Given the description of an element on the screen output the (x, y) to click on. 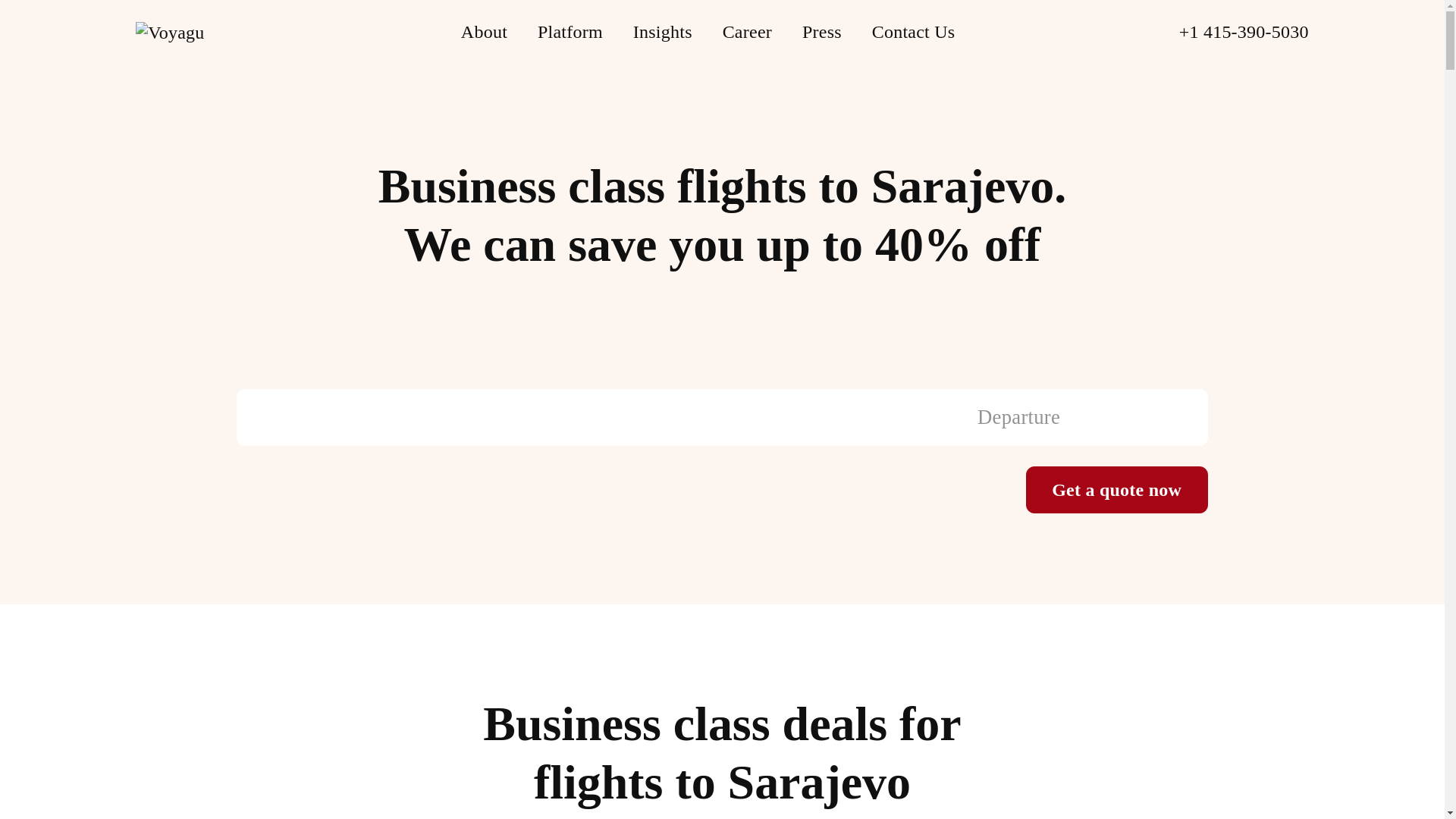
Press (821, 31)
Platform (569, 31)
About (483, 31)
Get a quote now (708, 32)
Insights (1117, 490)
Career (663, 31)
Contact Us (746, 31)
